Given the description of an element on the screen output the (x, y) to click on. 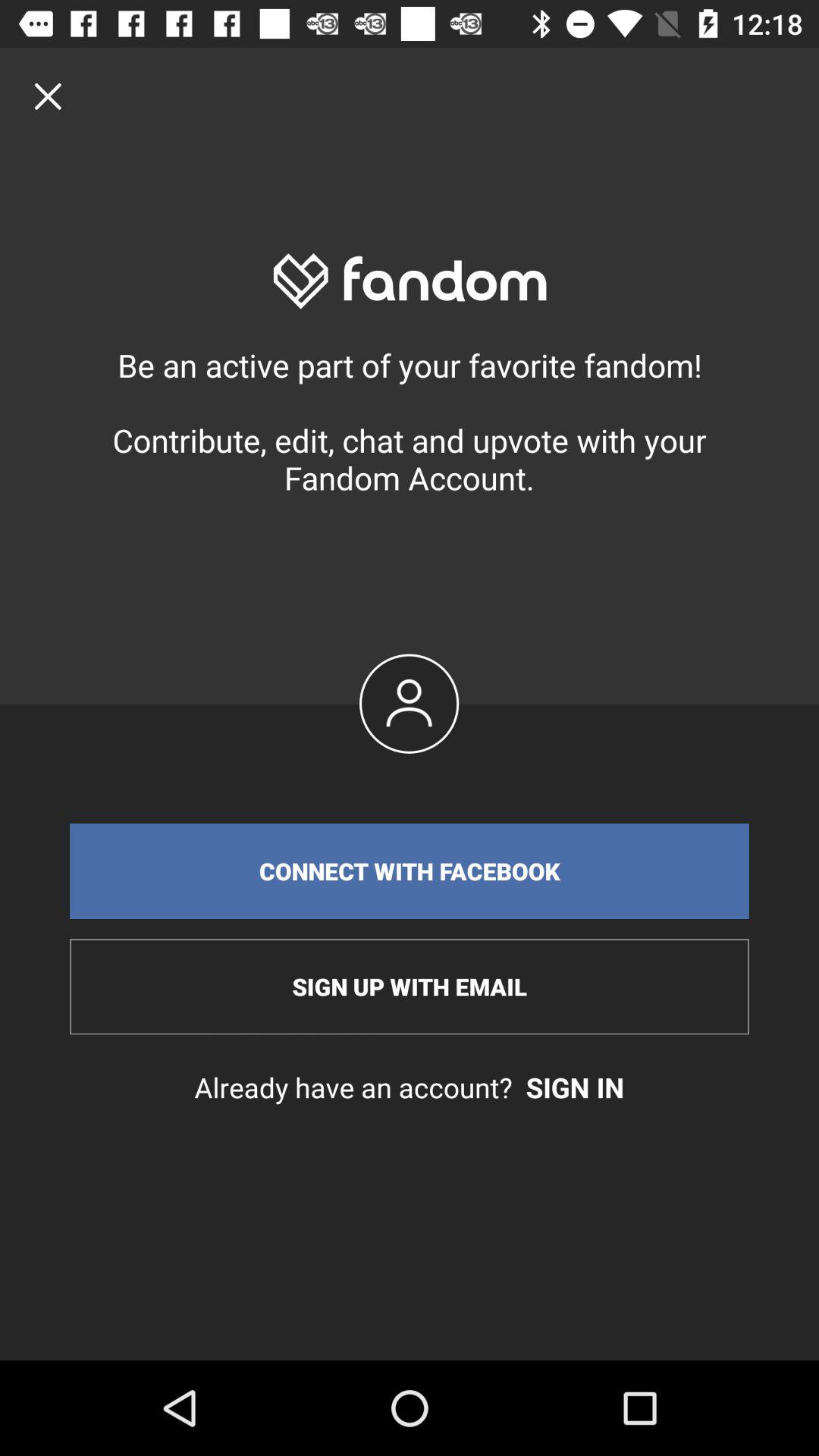
swipe to already have an icon (409, 1087)
